Given the description of an element on the screen output the (x, y) to click on. 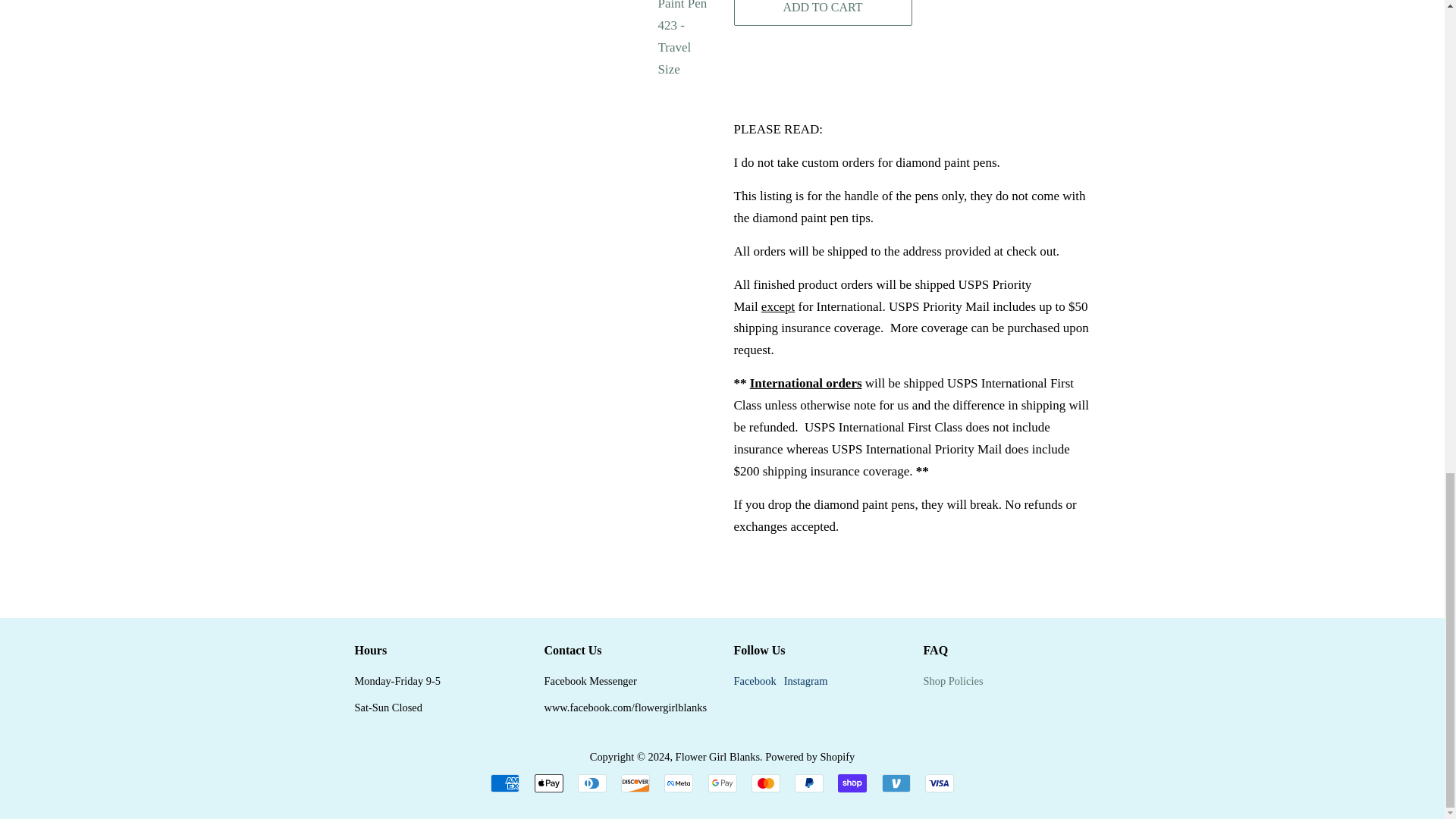
Discover (635, 782)
Venmo (895, 782)
Apple Pay (548, 782)
Mastercard (765, 782)
Flower Girl Blanks on Facebook (754, 680)
Google Pay (721, 782)
American Express (504, 782)
Visa (938, 782)
Shop Pay (852, 782)
Meta Pay (678, 782)
